Given the description of an element on the screen output the (x, y) to click on. 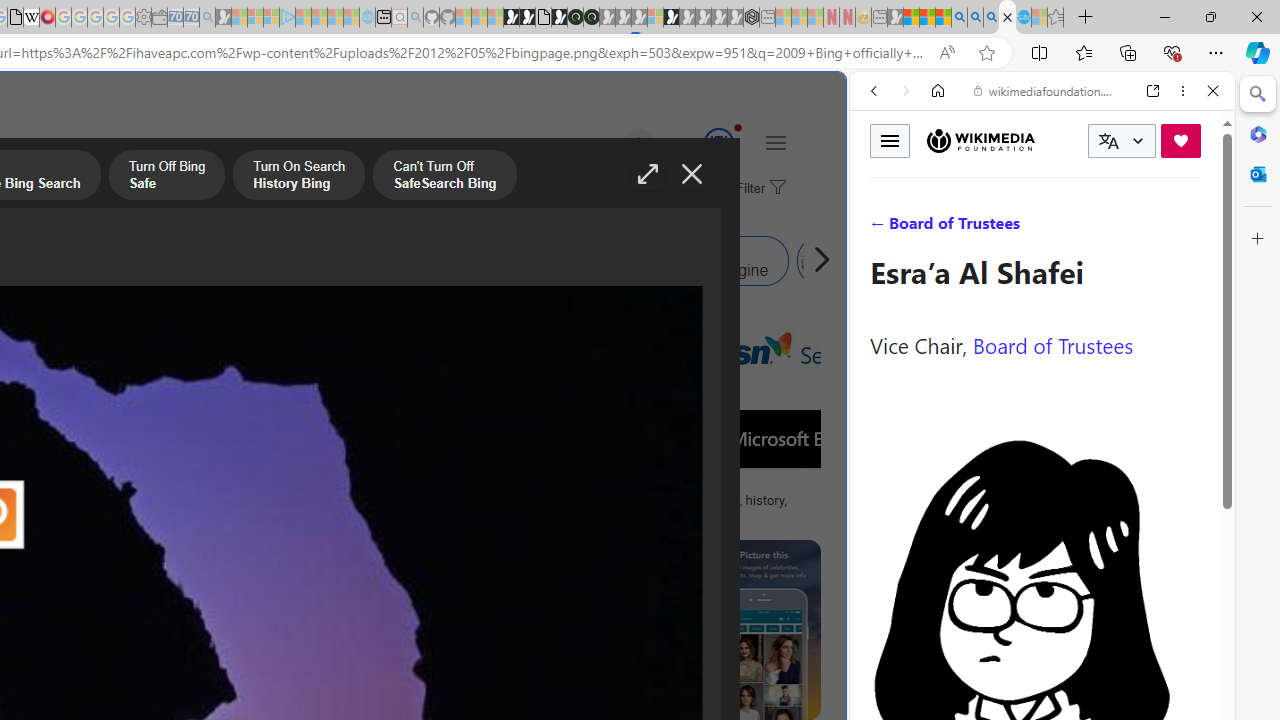
Bing Logo, symbol, meaning, history, PNG, brandSave (694, 417)
Eugene (611, 143)
Frequently visited (418, 265)
